Given the description of an element on the screen output the (x, y) to click on. 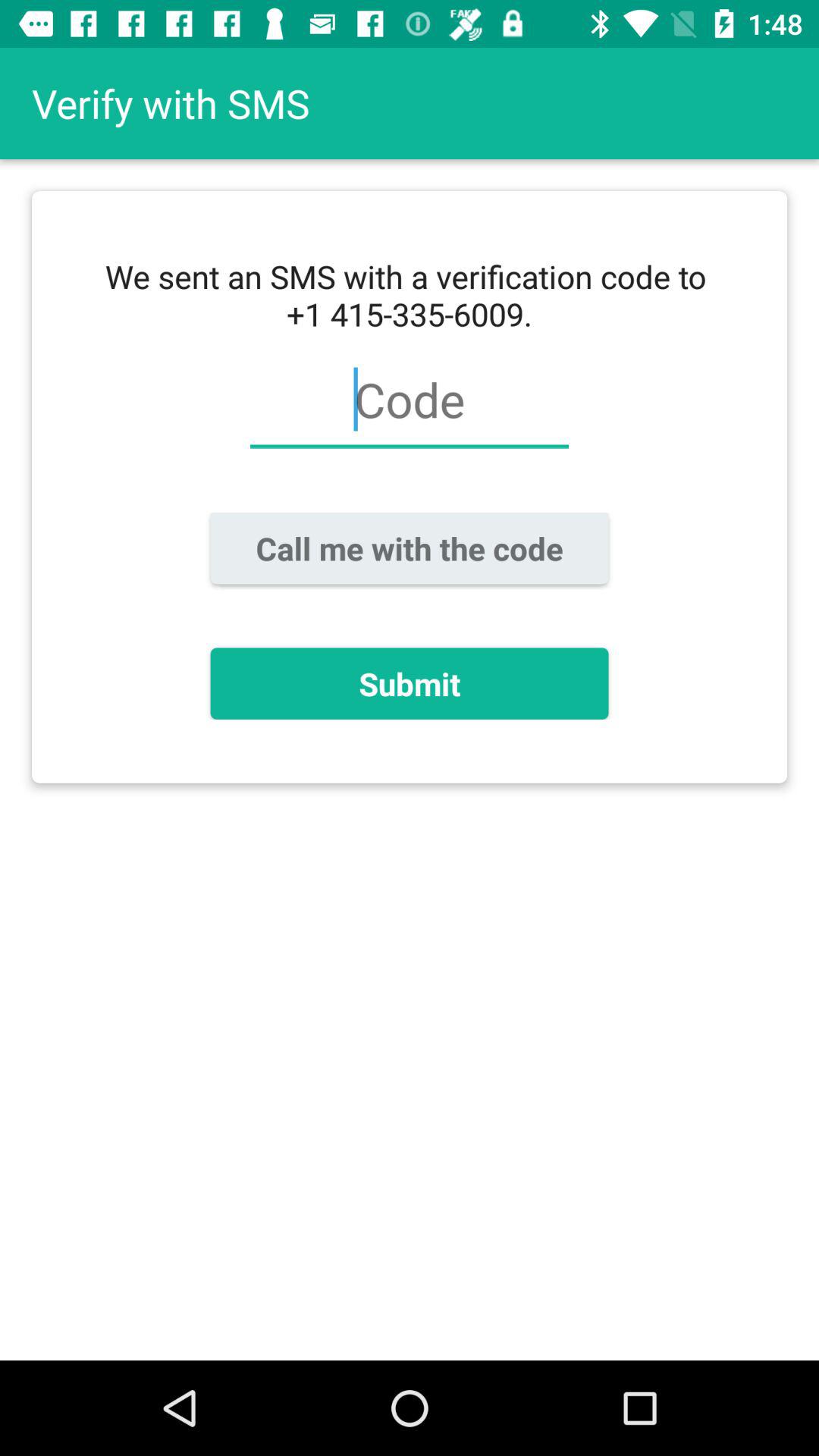
tap the icon below the call me with item (409, 683)
